Given the description of an element on the screen output the (x, y) to click on. 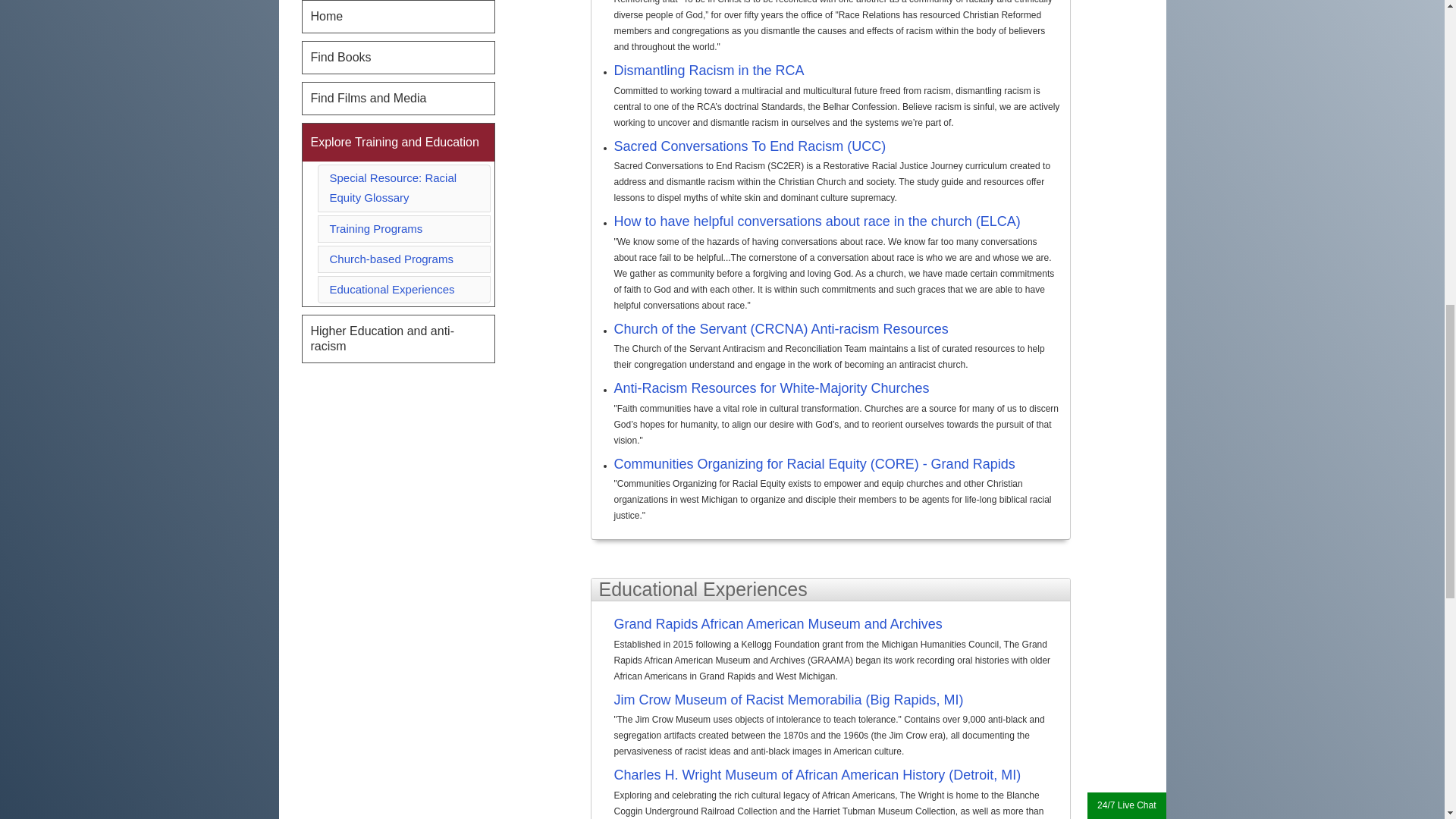
Anti-Racism Resources for White-Majority Churches (772, 387)
Grand Rapids African American Museum and Archives (838, 625)
Dismantling Racism in the RCA (709, 70)
